Given the description of an element on the screen output the (x, y) to click on. 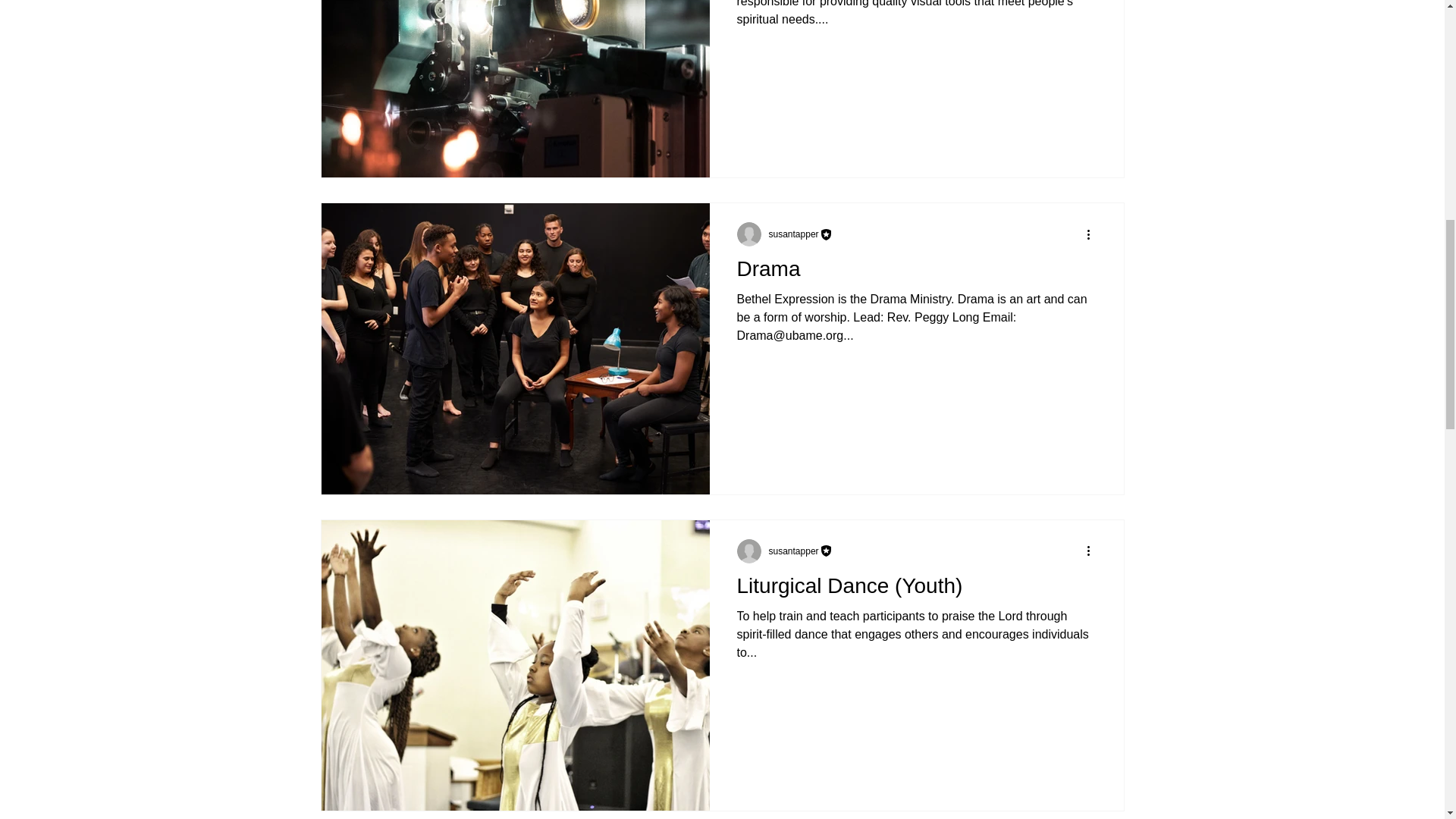
susantapper (800, 234)
susantapper (800, 550)
susantapper (793, 551)
susantapper (793, 234)
Drama (916, 273)
